Given the description of an element on the screen output the (x, y) to click on. 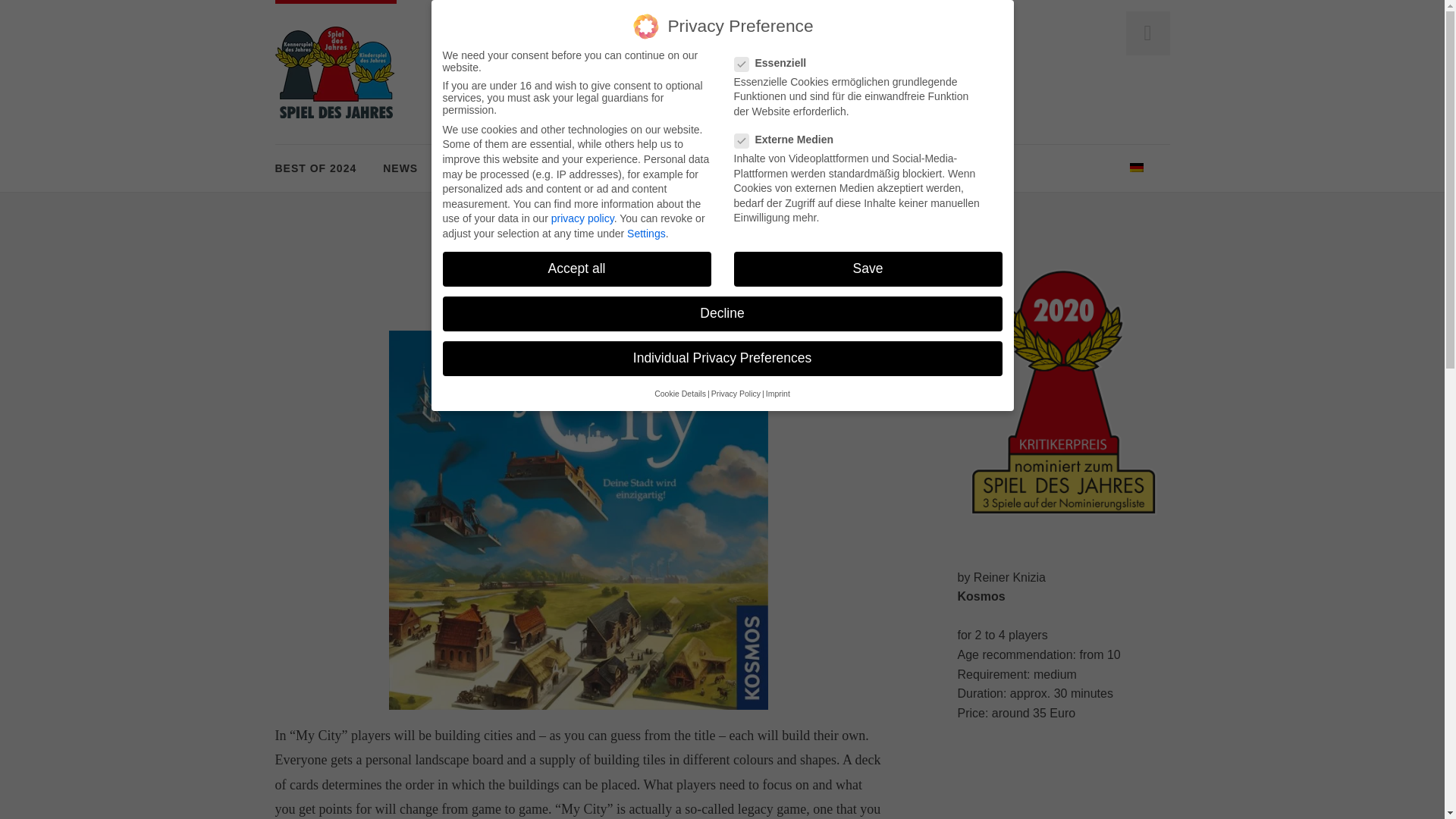
NEWS (399, 168)
Privacy Policy (735, 393)
privacy policy (582, 214)
BEST OF 2024 (315, 168)
Cookie Details (679, 393)
DATA BASE (477, 168)
FAQ (607, 168)
Settings (646, 231)
Imprint (777, 393)
Accept all (576, 267)
JURY (553, 168)
Search (34, 13)
Save (868, 267)
Decline (722, 313)
Spiel des Jahres (335, 71)
